Given the description of an element on the screen output the (x, y) to click on. 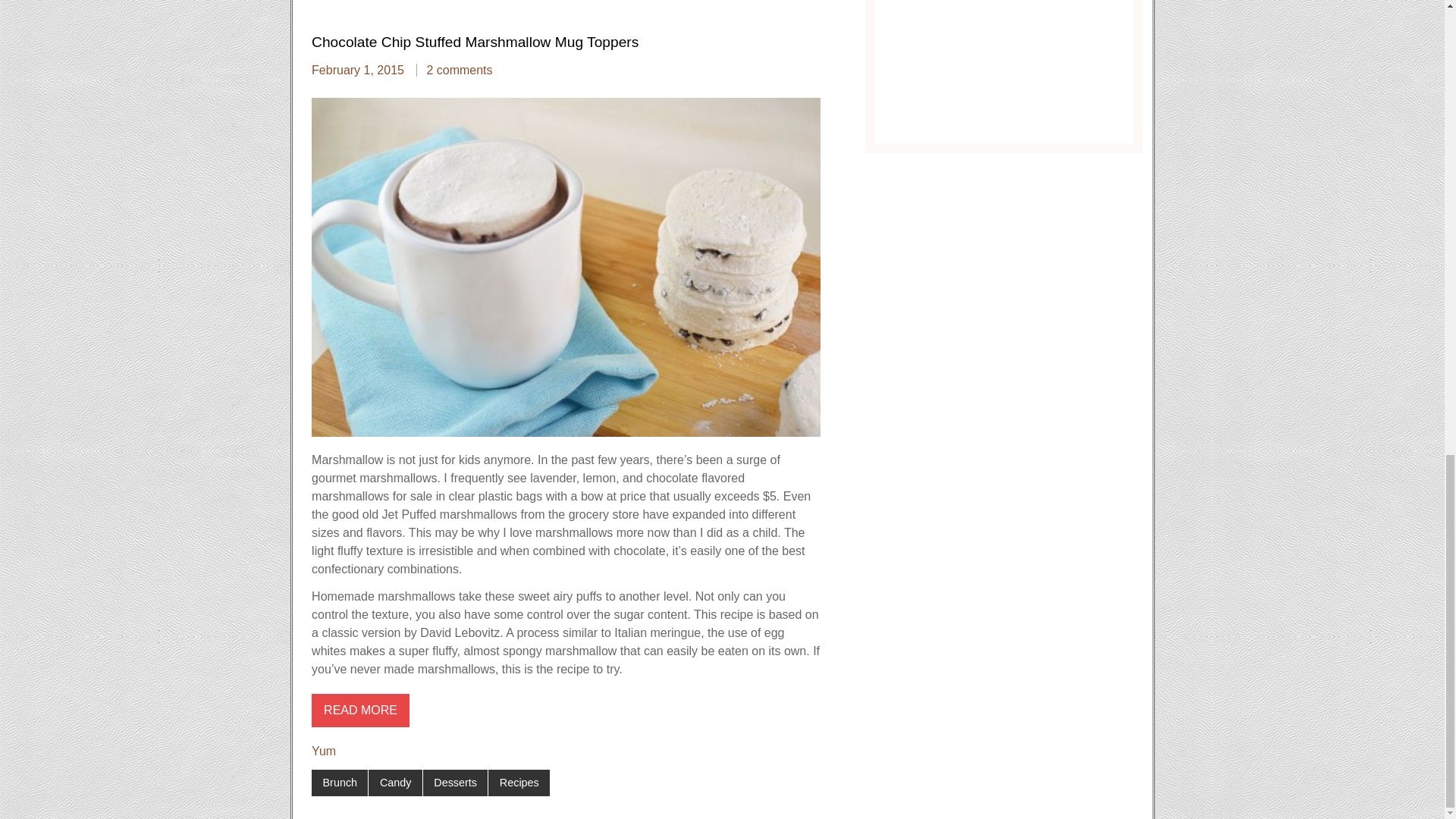
Candy (395, 782)
READ MORE (360, 709)
Chocolate Chip Stuffed Marshmallow Mug Toppers (475, 41)
Yum (323, 750)
Brunch (339, 782)
Recipes (518, 782)
Desserts (455, 782)
11:27 am (357, 69)
2 comments (459, 69)
February 1, 2015 (357, 69)
